Given the description of an element on the screen output the (x, y) to click on. 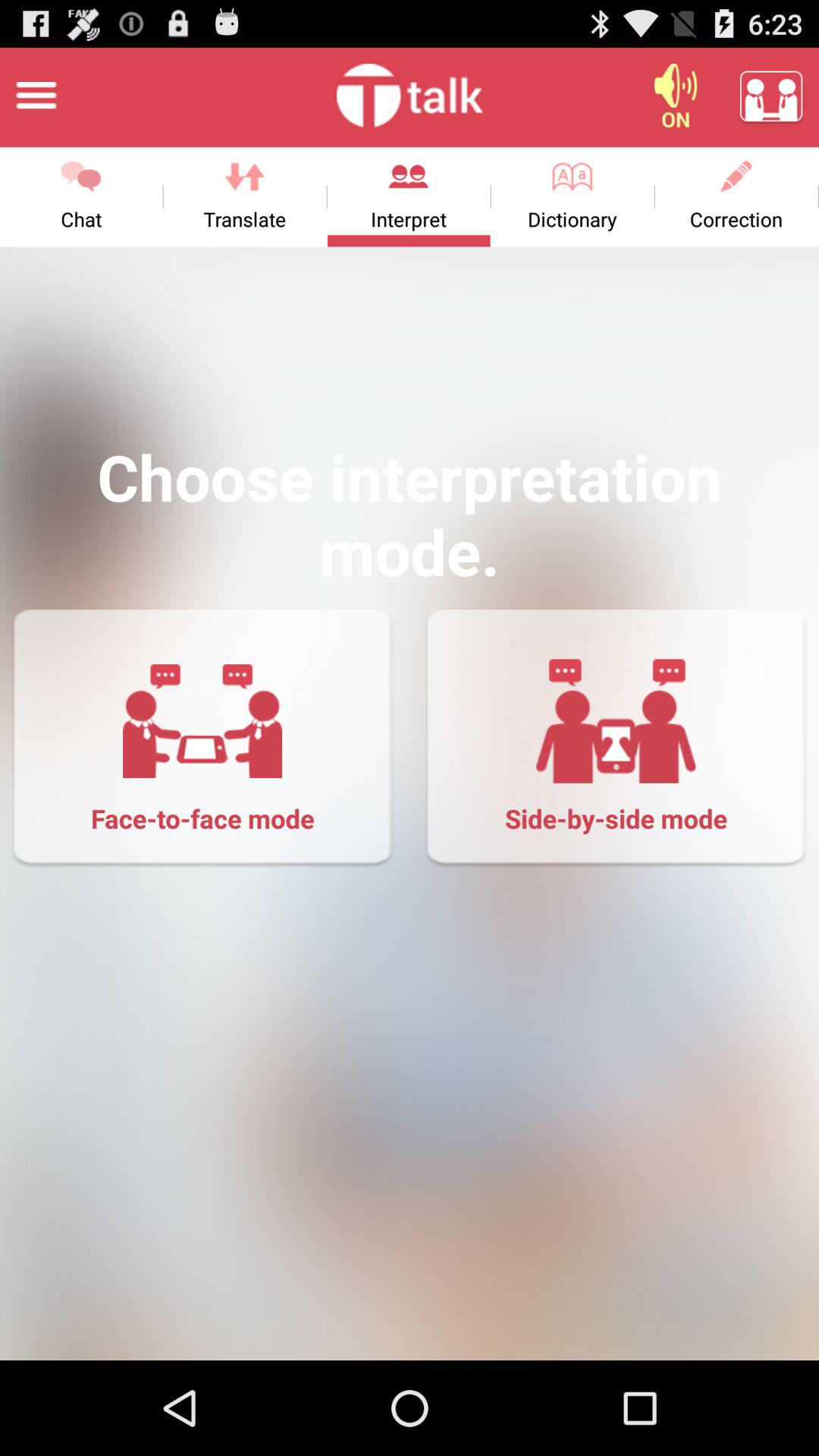
select option on which is on the top right side of page (675, 95)
click on the image which is above the sidebyside mode option (615, 721)
go to icon in top right corner (771, 95)
